Given the description of an element on the screen output the (x, y) to click on. 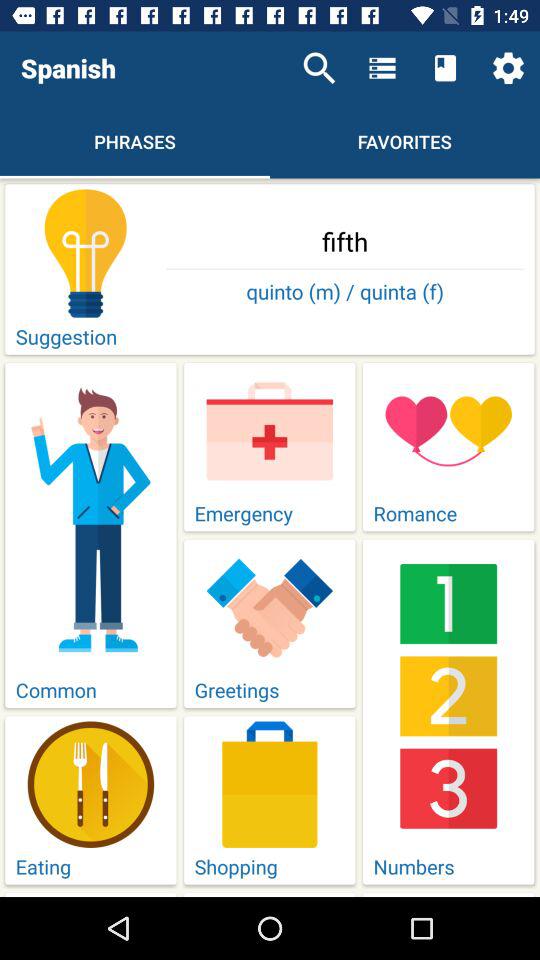
open the item above favorites item (381, 67)
